Given the description of an element on the screen output the (x, y) to click on. 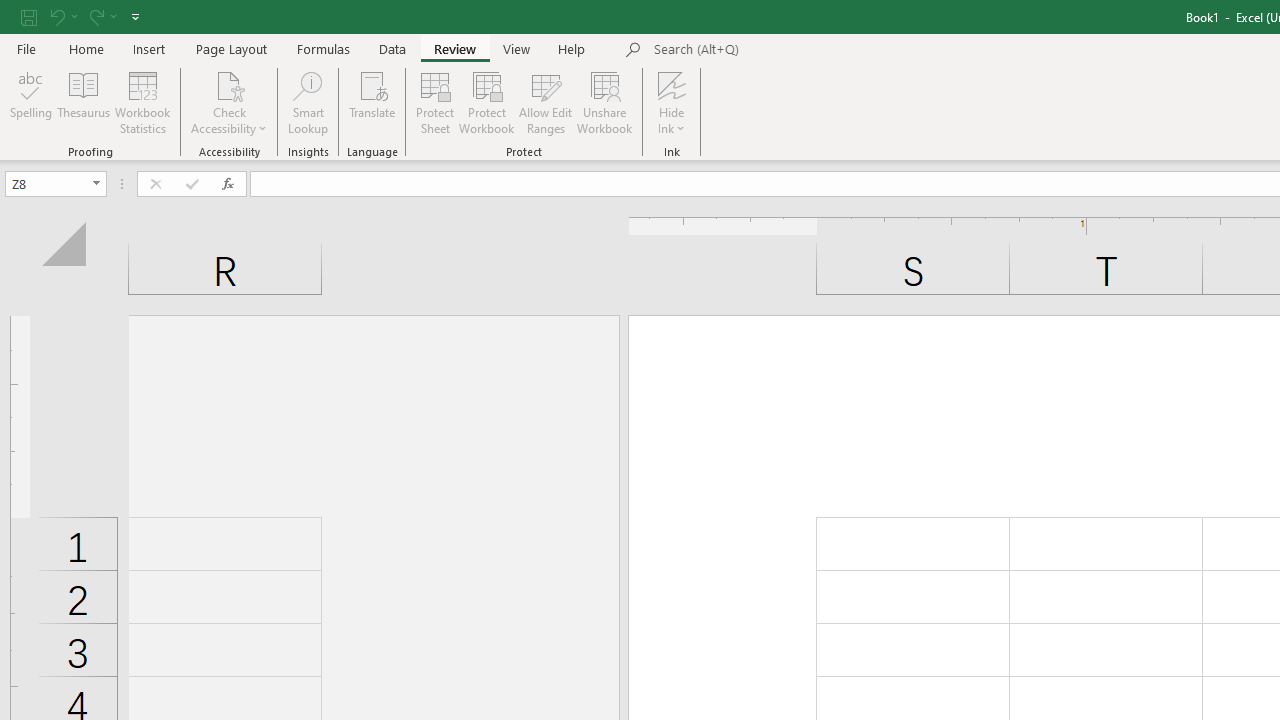
Protect Workbook... (486, 102)
Spelling... (31, 102)
Protect Sheet... (434, 102)
